Given the description of an element on the screen output the (x, y) to click on. 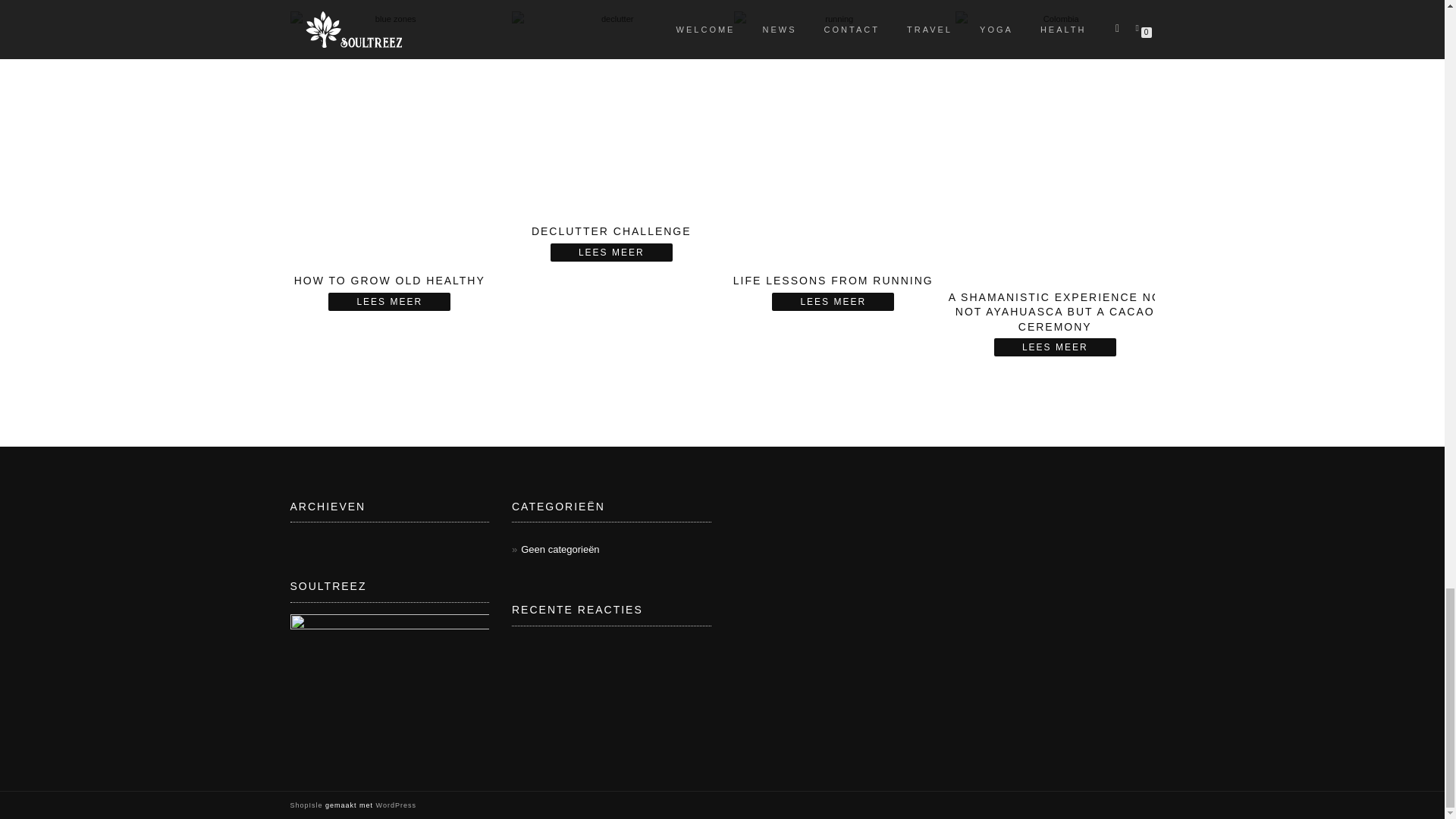
DECLUTTER CHALLENGE (611, 134)
LEES MEER (832, 301)
running (832, 136)
declutter (611, 110)
LEES MEER (389, 301)
ShopIsle (306, 805)
blue zones (389, 136)
LEES MEER (1055, 347)
WordPress (394, 805)
LEES MEER (611, 252)
